Given the description of an element on the screen output the (x, y) to click on. 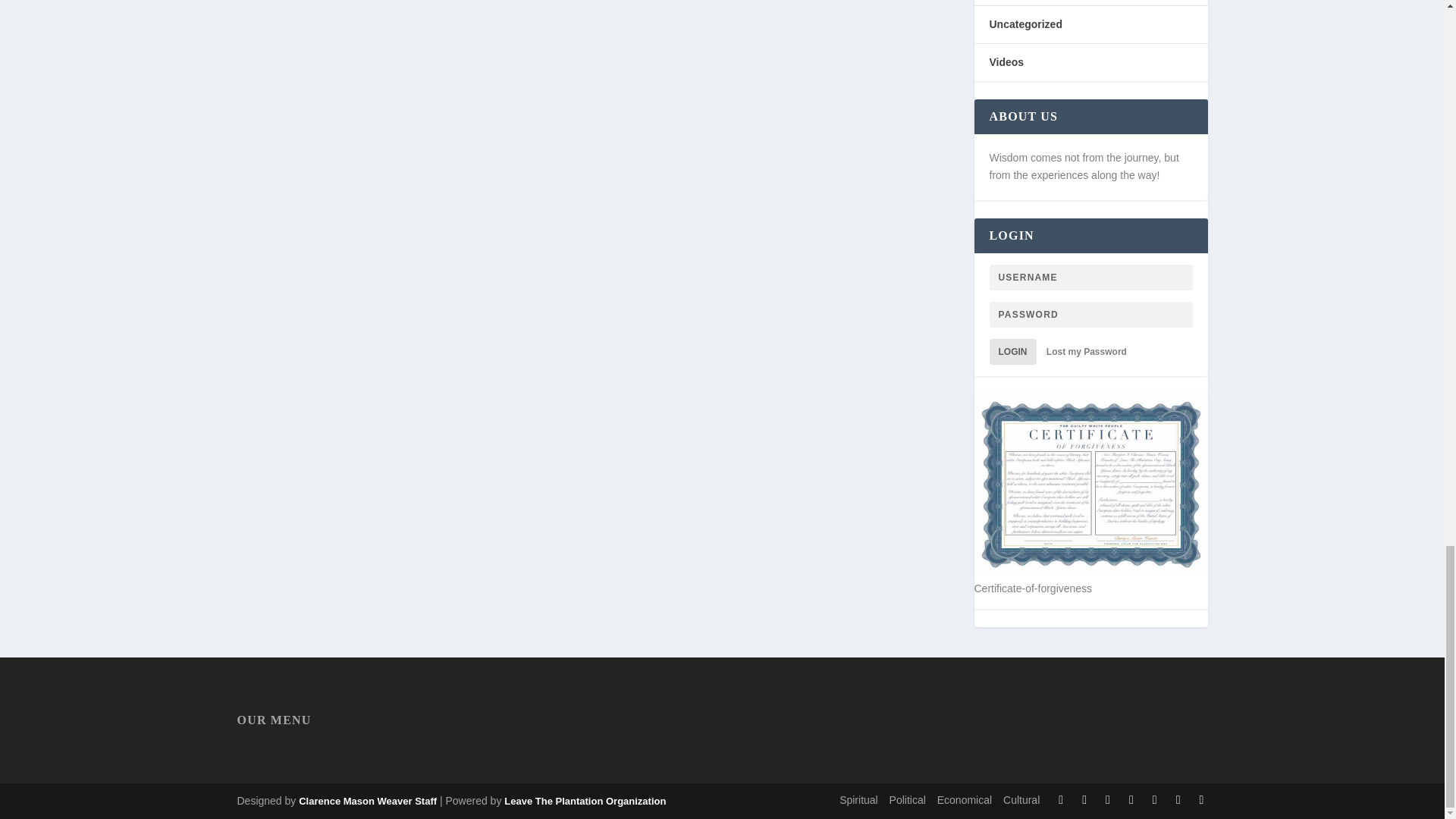
Leave the Plantation Organization (367, 800)
